Given the description of an element on the screen output the (x, y) to click on. 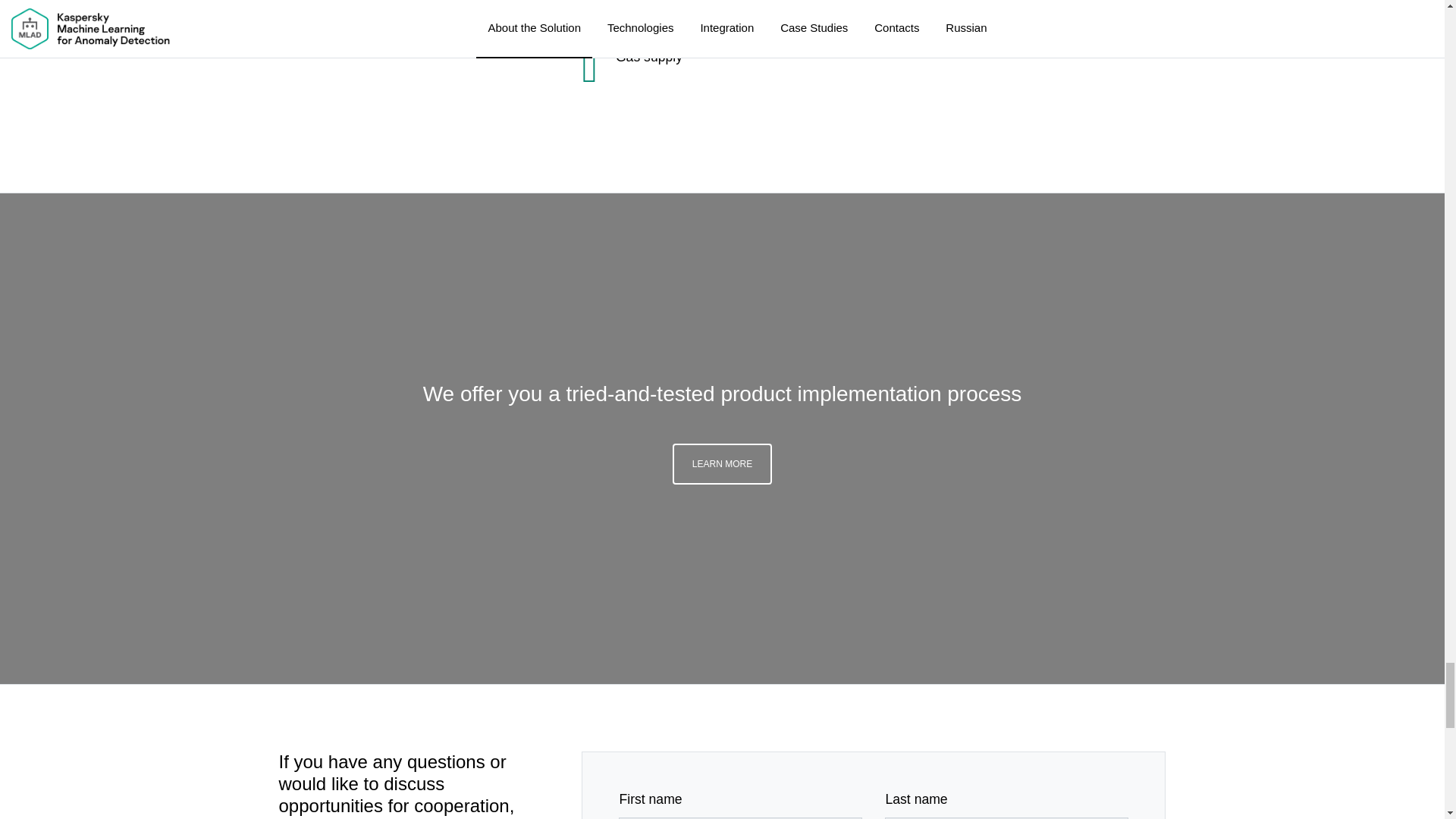
LEARN MORE (721, 463)
